Given the description of an element on the screen output the (x, y) to click on. 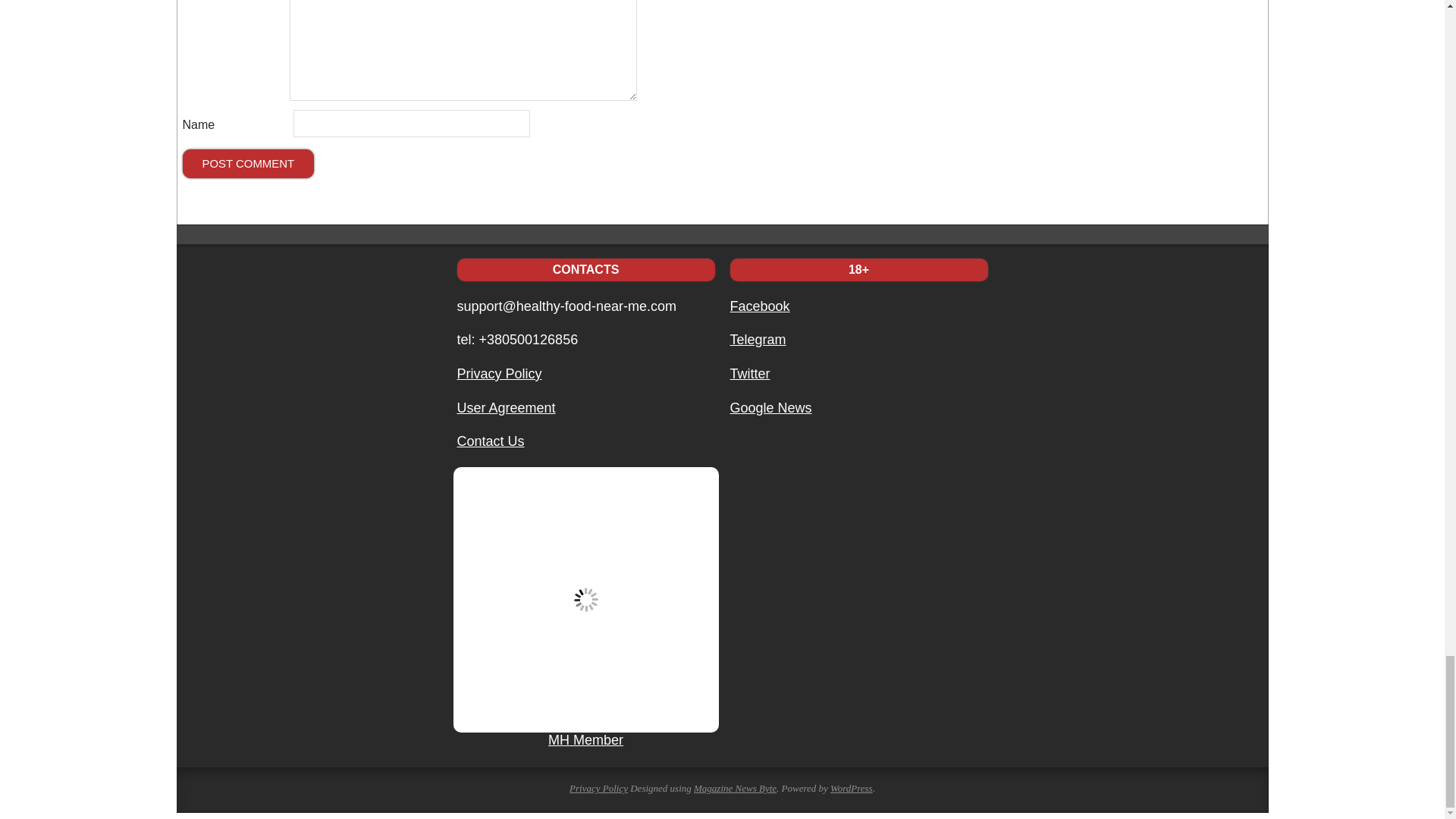
Magazine News Byte WordPress Theme (735, 787)
Post Comment (248, 164)
